Given the description of an element on the screen output the (x, y) to click on. 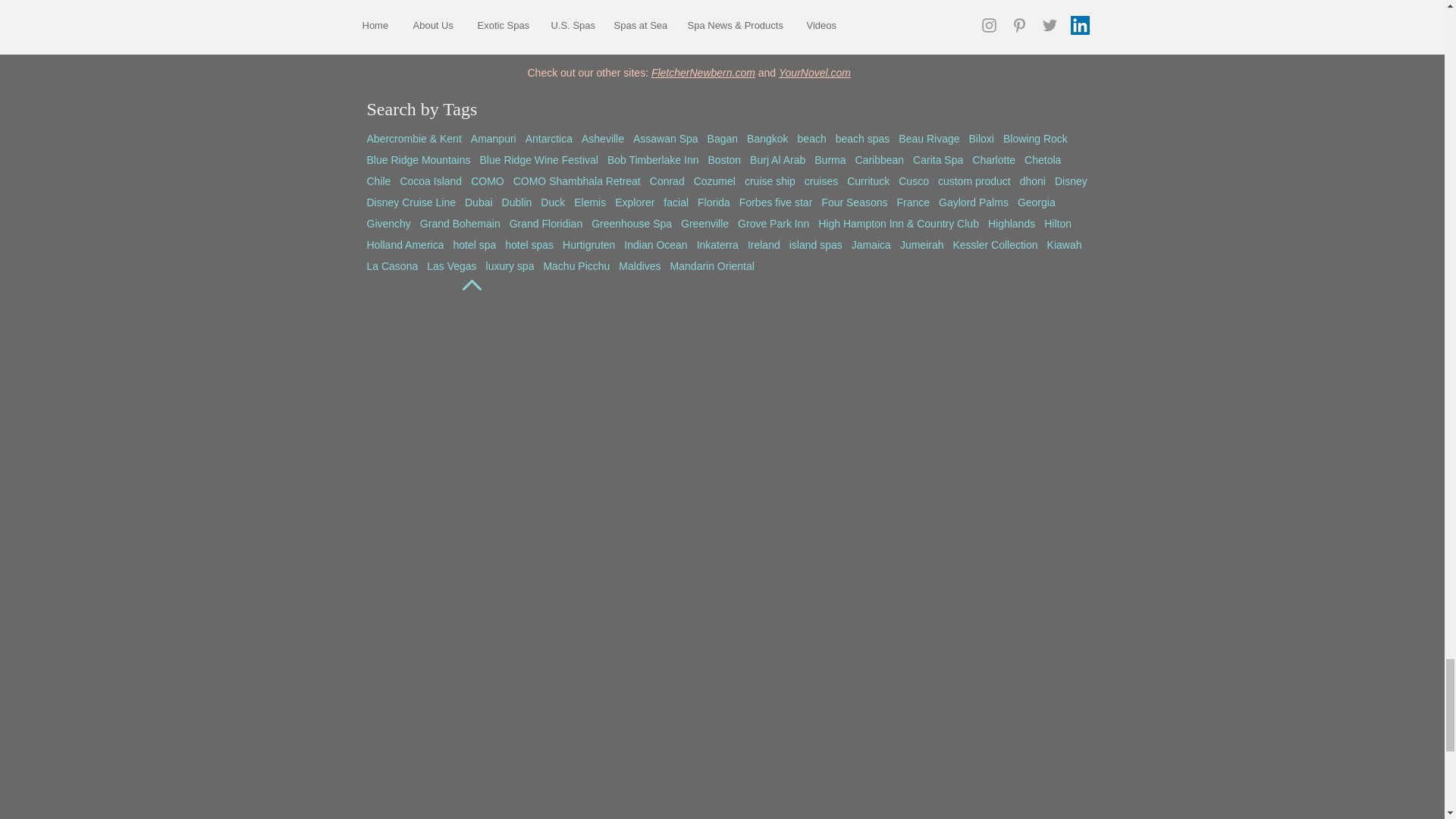
Antarctica (548, 138)
beach (812, 138)
YourNovel.com (814, 72)
Amanpuri (493, 138)
Assawan Spa (665, 138)
FletcherNewbern.com (702, 72)
Asheville (602, 138)
beach spas (862, 138)
Bagan (722, 138)
Beau Rivage (928, 138)
Blowing Rock (1035, 138)
Blue Ridge Mountains (418, 159)
Bangkok (766, 138)
Biloxi (981, 138)
